Given the description of an element on the screen output the (x, y) to click on. 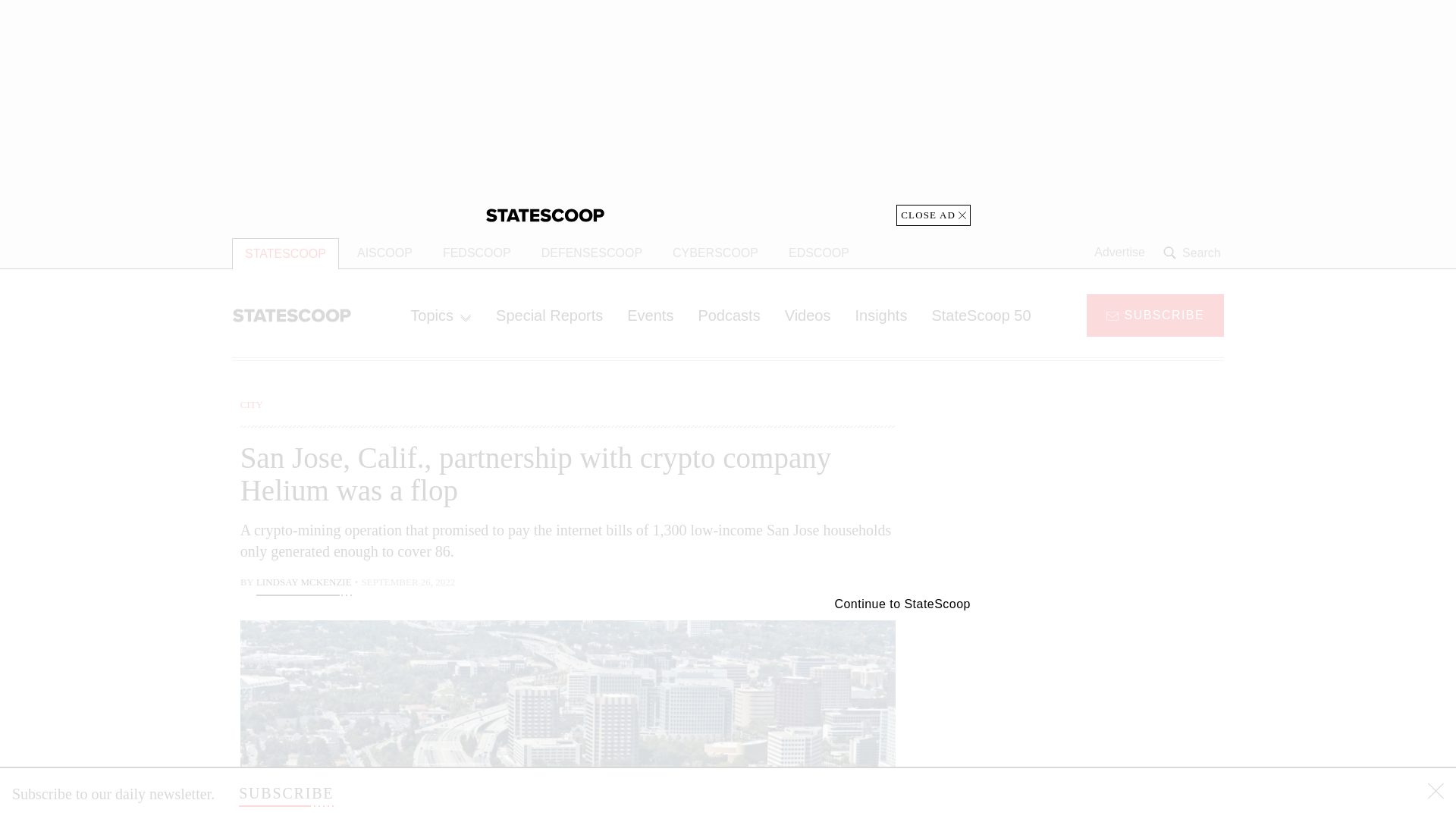
3rd party ad content (1101, 705)
AISCOOP (385, 253)
STATESCOOP (285, 253)
CYBERSCOOP (715, 253)
FEDSCOOP (476, 253)
LINDSAY MCKENZIE (304, 583)
Events (649, 315)
Insights (880, 315)
CITY (251, 404)
